Given the description of an element on the screen output the (x, y) to click on. 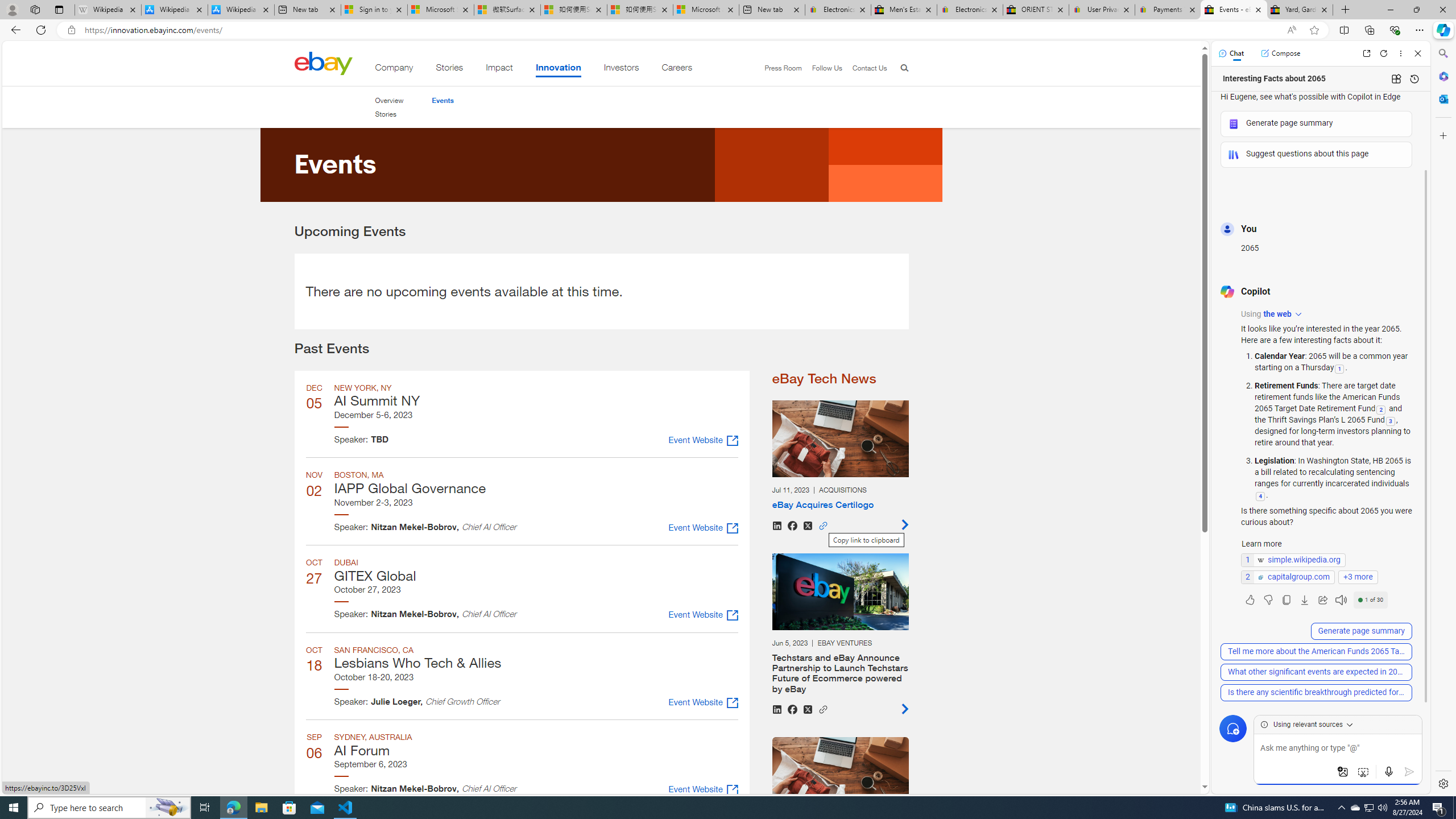
Stories (388, 113)
Investors (620, 69)
Impact (499, 69)
Innovation (557, 69)
Investors (620, 69)
Contact Us (863, 68)
